Given the description of an element on the screen output the (x, y) to click on. 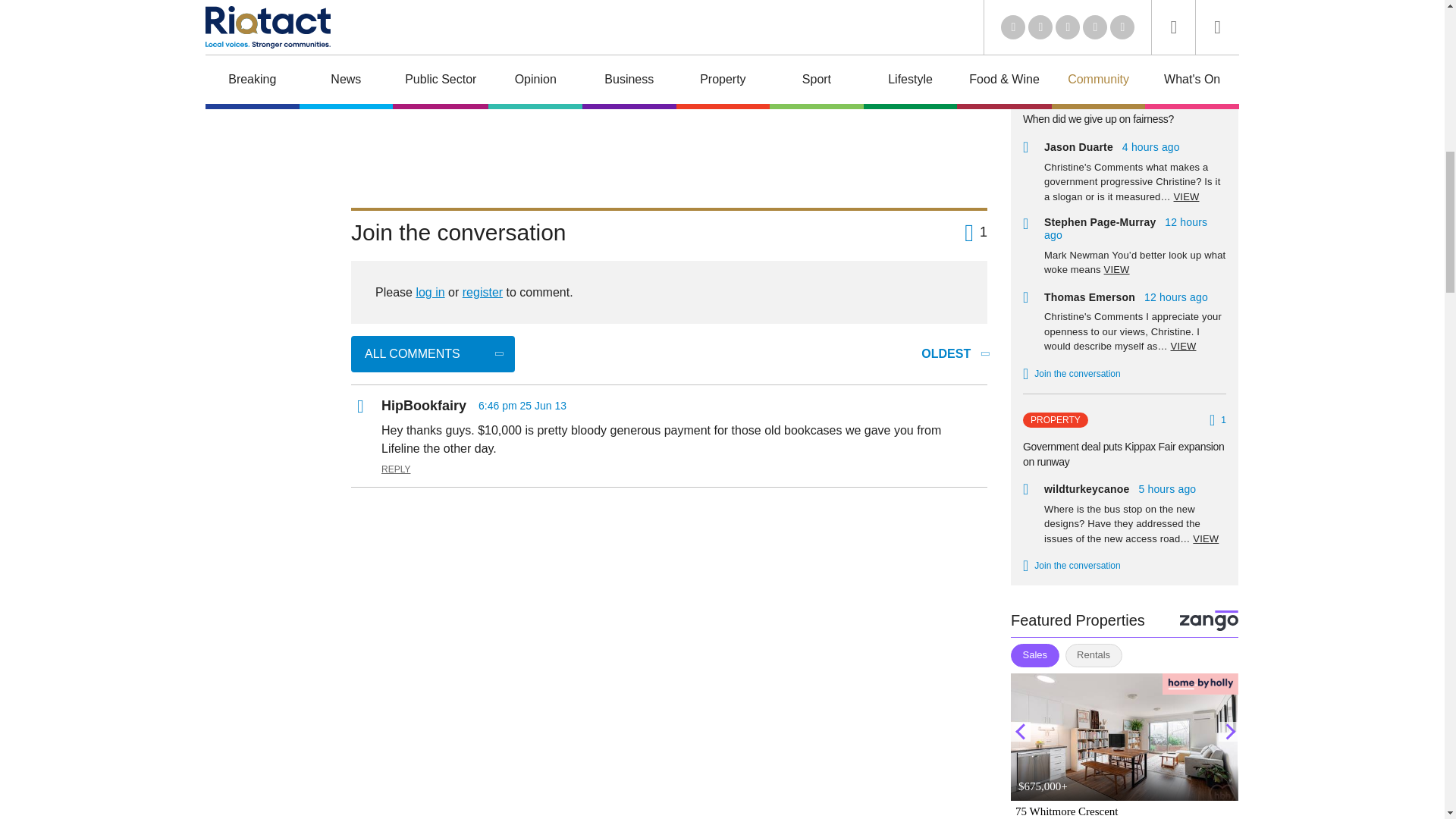
Zango (1209, 620)
3rd party ad content (668, 533)
3rd party ad content (668, 149)
Zango Sales (1124, 746)
